Given the description of an element on the screen output the (x, y) to click on. 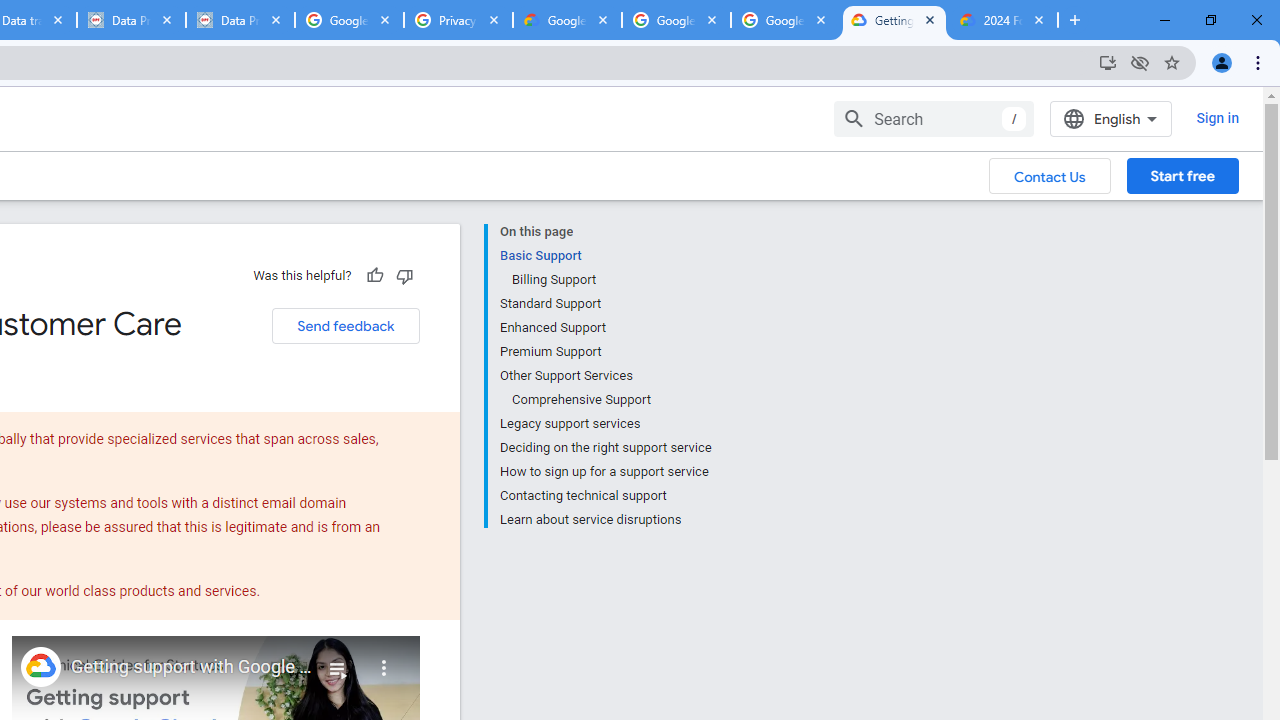
Deciding on the right support service (605, 448)
Data Privacy Framework (240, 20)
How to sign up for a support service (605, 471)
Billing Support (610, 279)
Google Workspace - Specific Terms (784, 20)
Contact Us (1050, 175)
Search (934, 118)
Premium Support (605, 351)
Google Cloud Terms Directory | Google Cloud (567, 20)
